Given the description of an element on the screen output the (x, y) to click on. 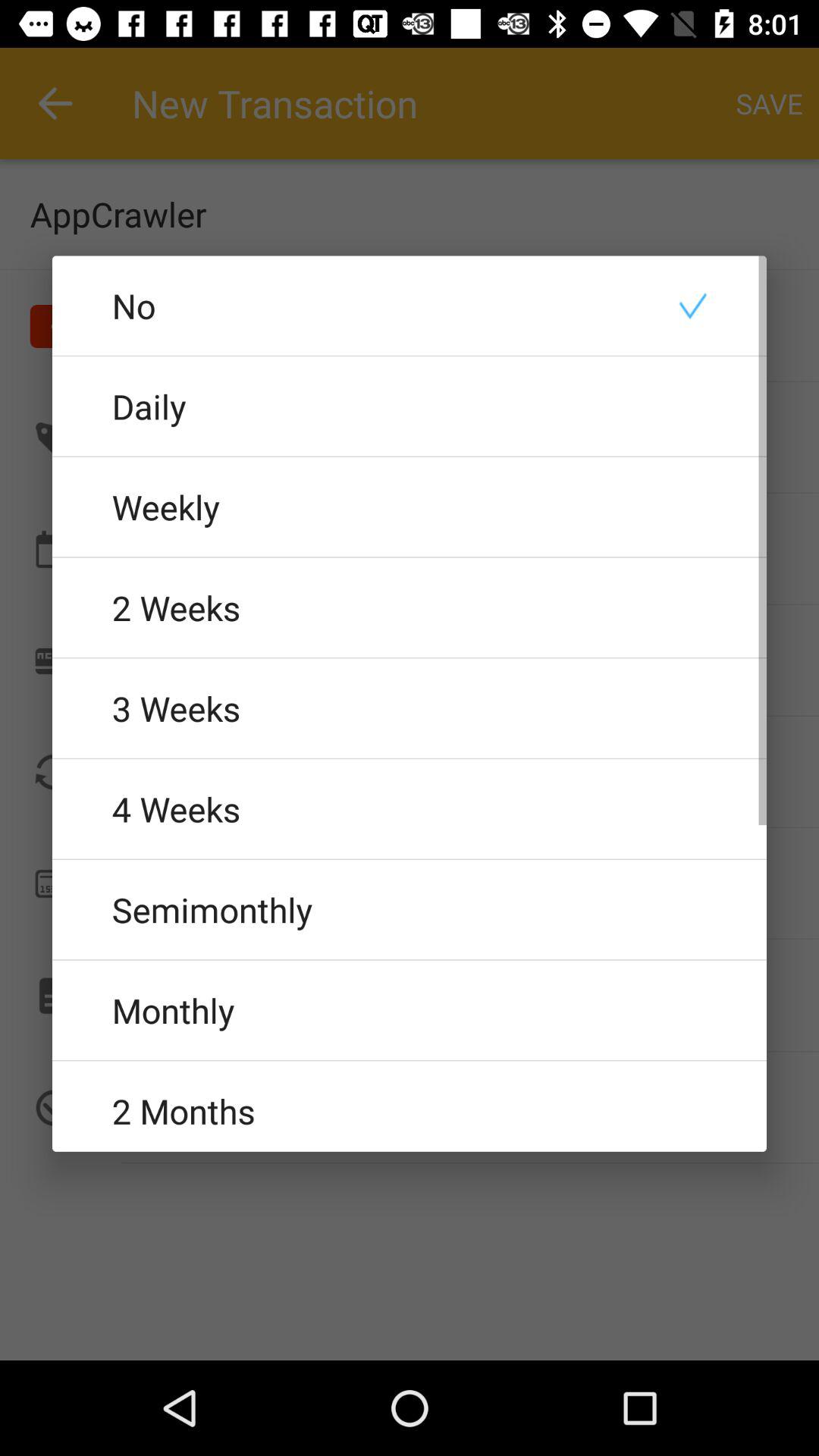
select the semimonthly item (409, 909)
